Given the description of an element on the screen output the (x, y) to click on. 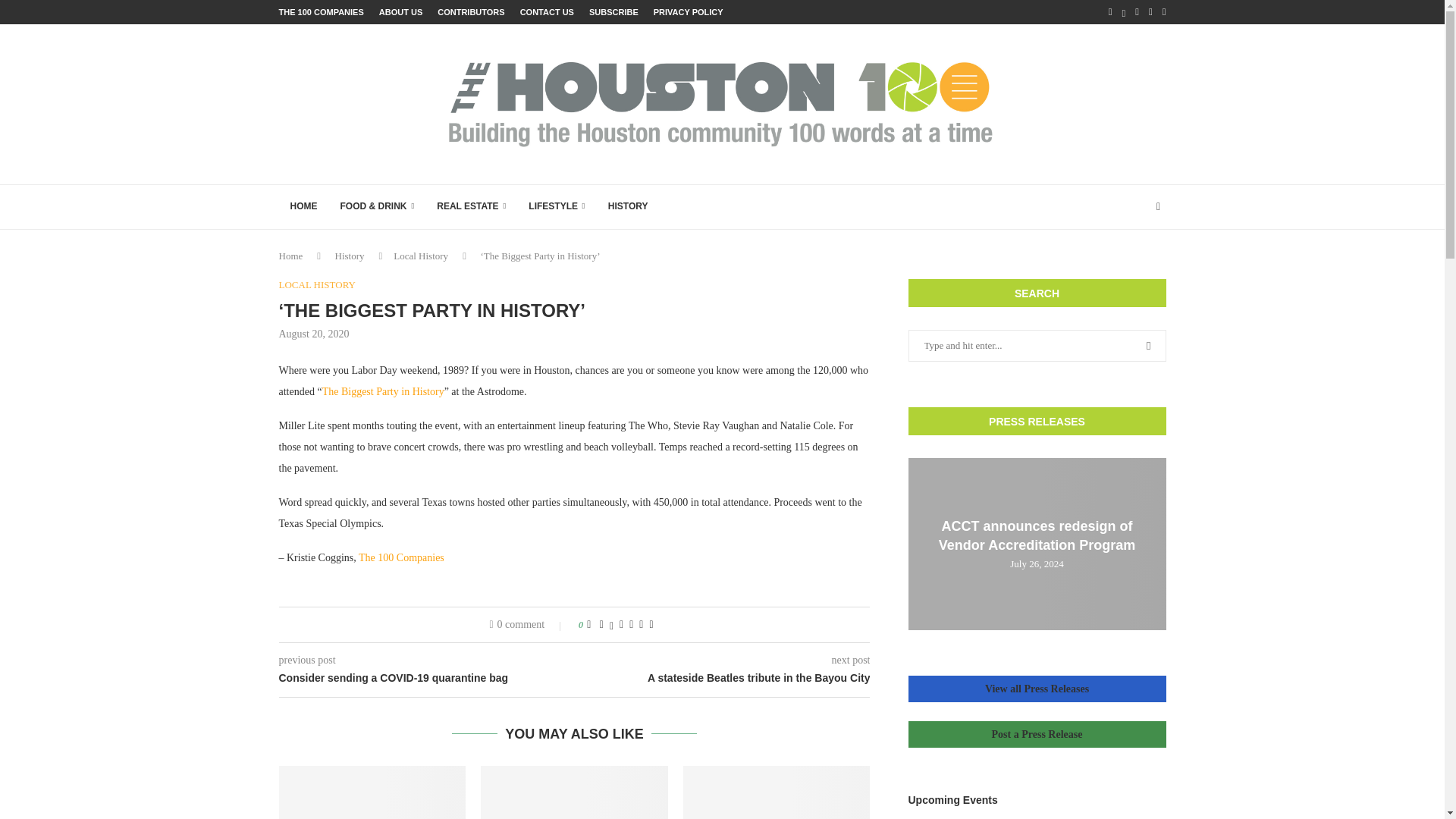
HOME (304, 207)
The 100 Companies (401, 557)
ABOUT US (400, 12)
SUBSCRIBE (614, 12)
CONTRIBUTORS (470, 12)
A stateside Beatles tribute in the Bayou City (722, 678)
Local History (420, 255)
LIFESTYLE (555, 207)
LOCAL HISTORY (317, 285)
THE 100 COMPANIES (321, 12)
